Given the description of an element on the screen output the (x, y) to click on. 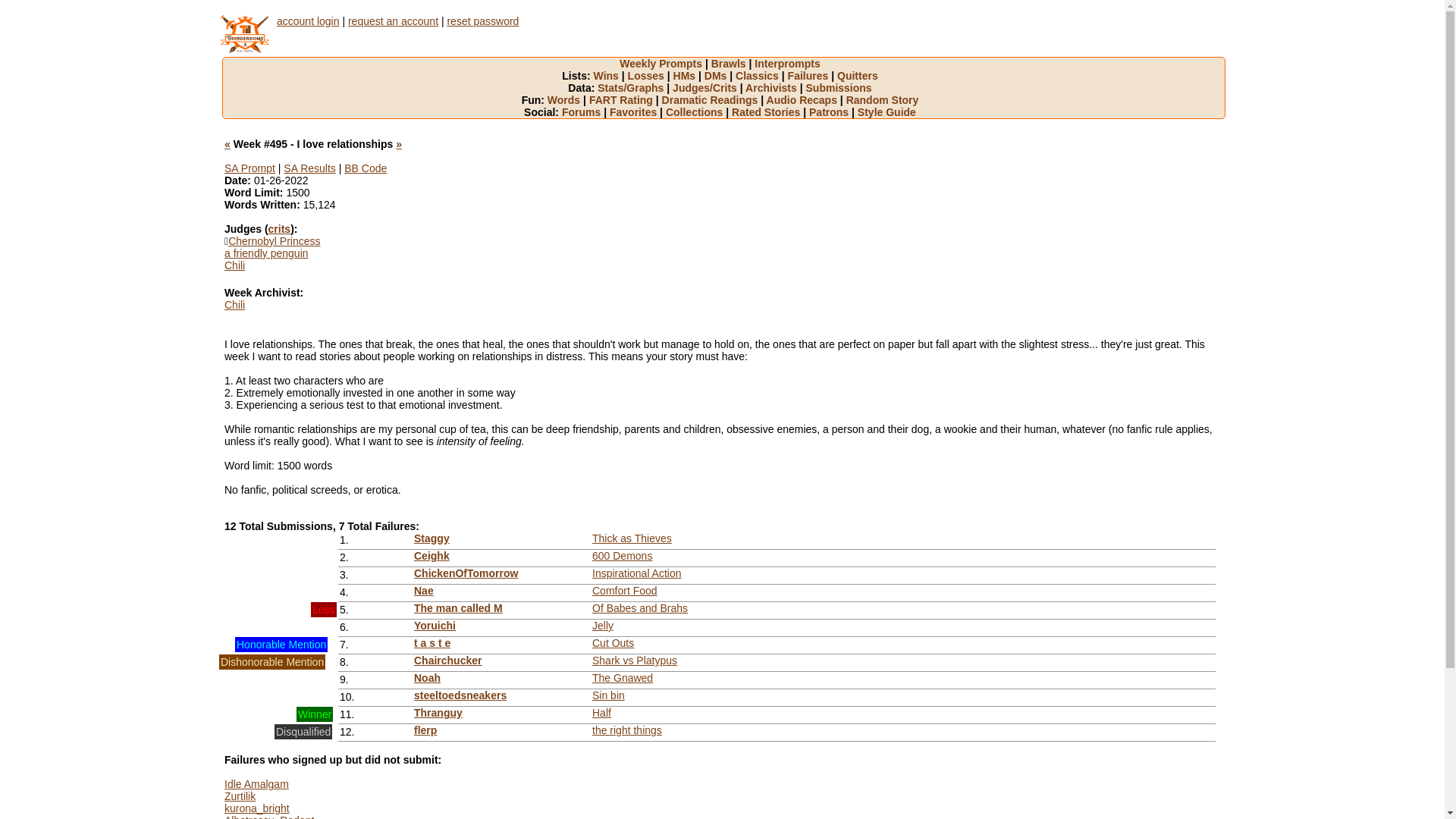
reset password Element type: text (482, 21)
600 Demons Element type: text (622, 555)
Weekly Prompts Element type: text (664, 63)
Favorites Element type: text (637, 112)
Random Story Element type: text (882, 100)
Judges/Crits Element type: text (708, 87)
Brawls Element type: text (733, 63)
Of Babes and Brahs Element type: text (639, 608)
Shark vs Platypus Element type: text (634, 660)
Collections Element type: text (698, 112)
Ceighk Element type: text (431, 555)
DMs Element type: text (719, 75)
kurona_bright Element type: text (256, 808)
Yoruichi Element type: text (434, 625)
The man called M Element type: text (458, 608)
Wins Element type: text (610, 75)
Comfort Food Element type: text (624, 590)
Chairchucker Element type: text (447, 660)
Losses Element type: text (650, 75)
Chernobyl Princess Element type: text (274, 241)
Half Element type: text (601, 712)
HMs Element type: text (688, 75)
account login Element type: text (307, 21)
Submissions Element type: text (838, 87)
t a s t e Element type: text (432, 643)
Jelly Element type: text (602, 625)
Interprompts Element type: text (786, 63)
Dramatic Readings Element type: text (714, 100)
Chili Element type: text (234, 304)
steeltoedsneakers Element type: text (460, 695)
SA Results Element type: text (309, 168)
Zurtilik Element type: text (239, 796)
request an account Element type: text (393, 21)
Words Element type: text (568, 100)
Failures Element type: text (812, 75)
SA Prompt Element type: text (249, 168)
Style Guide Element type: text (886, 112)
flerp Element type: text (425, 730)
Sin bin Element type: text (608, 695)
Classics Element type: text (761, 75)
Patrons Element type: text (833, 112)
BB Code Element type: text (365, 168)
Forums Element type: text (585, 112)
Nae Element type: text (423, 590)
FART Rating Element type: text (625, 100)
Noah Element type: text (427, 677)
Audio Recaps Element type: text (806, 100)
The Gnawed Element type: text (622, 677)
a friendly penguin Element type: text (266, 253)
Idle Amalgam Element type: text (256, 784)
Staggy Element type: text (431, 538)
Thranguy Element type: text (438, 712)
crits Element type: text (279, 228)
Rated Stories Element type: text (770, 112)
Cut Outs Element type: text (612, 643)
Chili Element type: text (234, 265)
the right things Element type: text (627, 730)
Archivists Element type: text (775, 87)
Inspirational Action Element type: text (636, 573)
ChickenOfTomorrow Element type: text (465, 573)
Stats/Graphs Element type: text (634, 87)
Quitters Element type: text (857, 75)
Thick as Thieves Element type: text (631, 538)
